Given the description of an element on the screen output the (x, y) to click on. 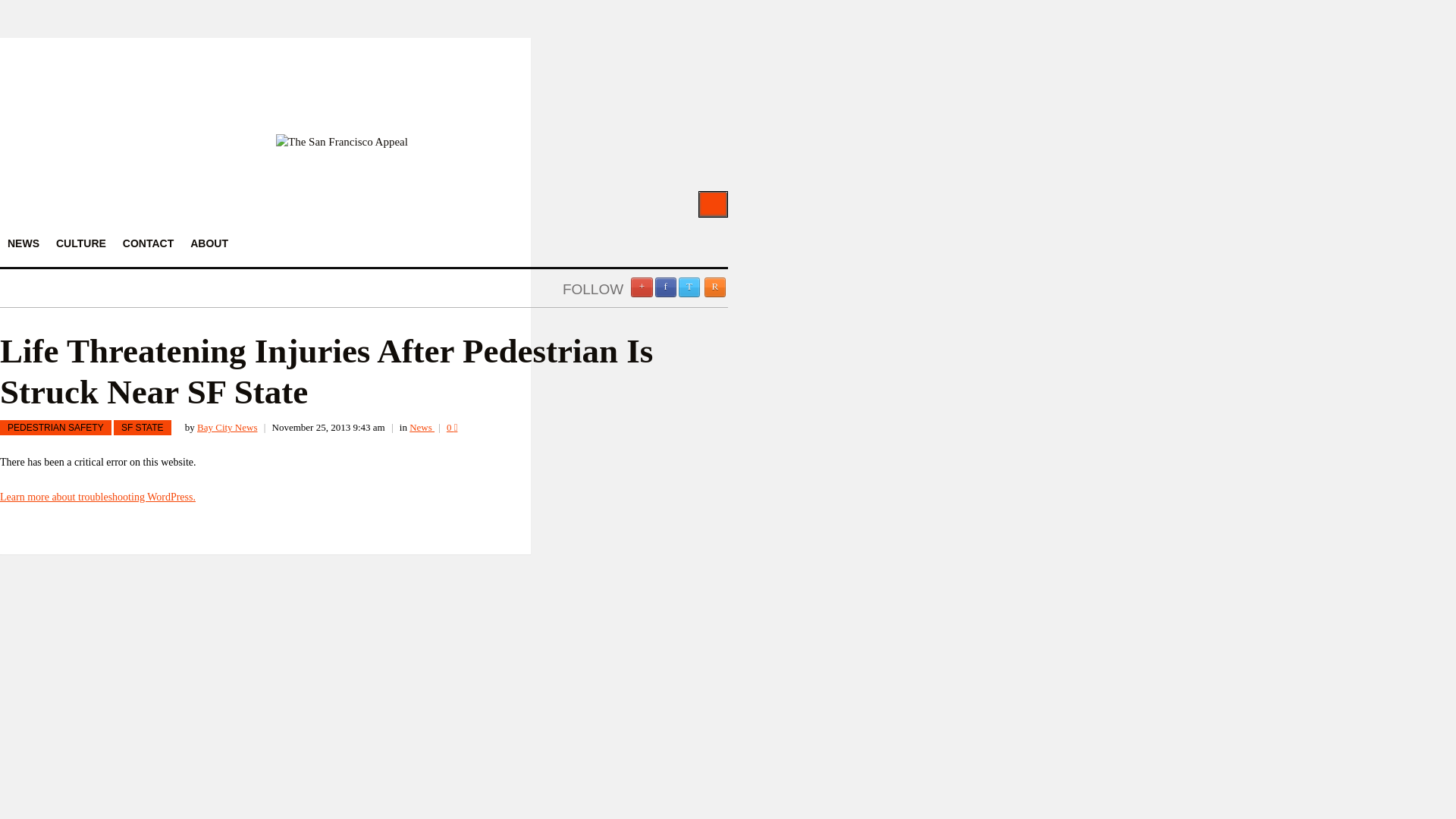
CONTACT (147, 243)
SF STATE (142, 427)
Search (712, 204)
SF Appeal: San Francisco's Online Newspaper (341, 141)
Search (712, 204)
RSS (714, 287)
ABOUT (209, 243)
TWITTER (689, 287)
Bay City News (226, 427)
0 (452, 427)
